Given the description of an element on the screen output the (x, y) to click on. 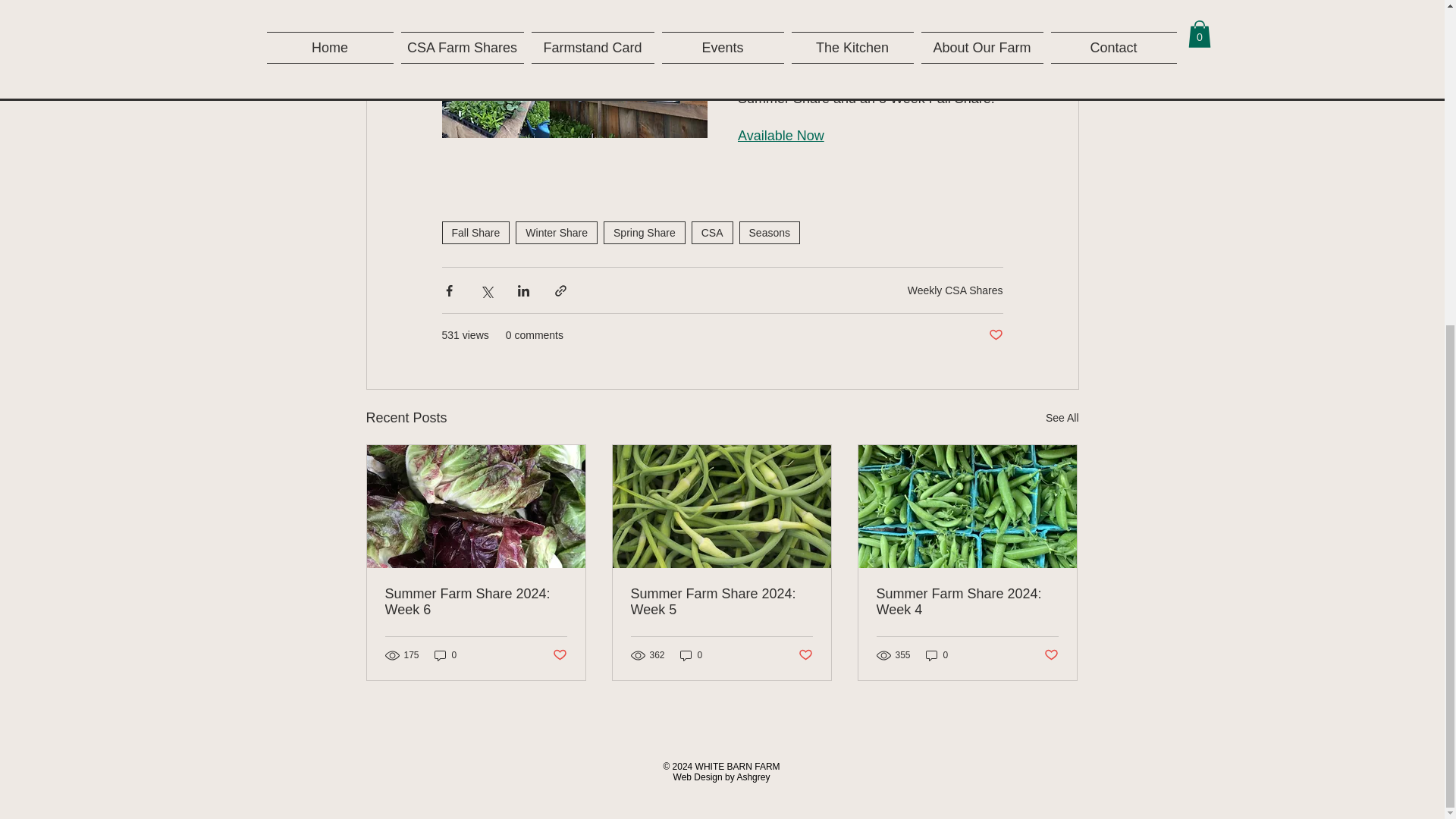
Fall Share (475, 232)
See All (1061, 418)
Spring Share (644, 232)
Seasons (769, 232)
Winter Share (555, 232)
CSA (712, 232)
Post not marked as liked (558, 655)
Post not marked as liked (995, 335)
0 (445, 655)
Summer Farm Share 2024: Week 6 (476, 602)
Weekly CSA Shares (955, 290)
Available Now (780, 135)
